Given the description of an element on the screen output the (x, y) to click on. 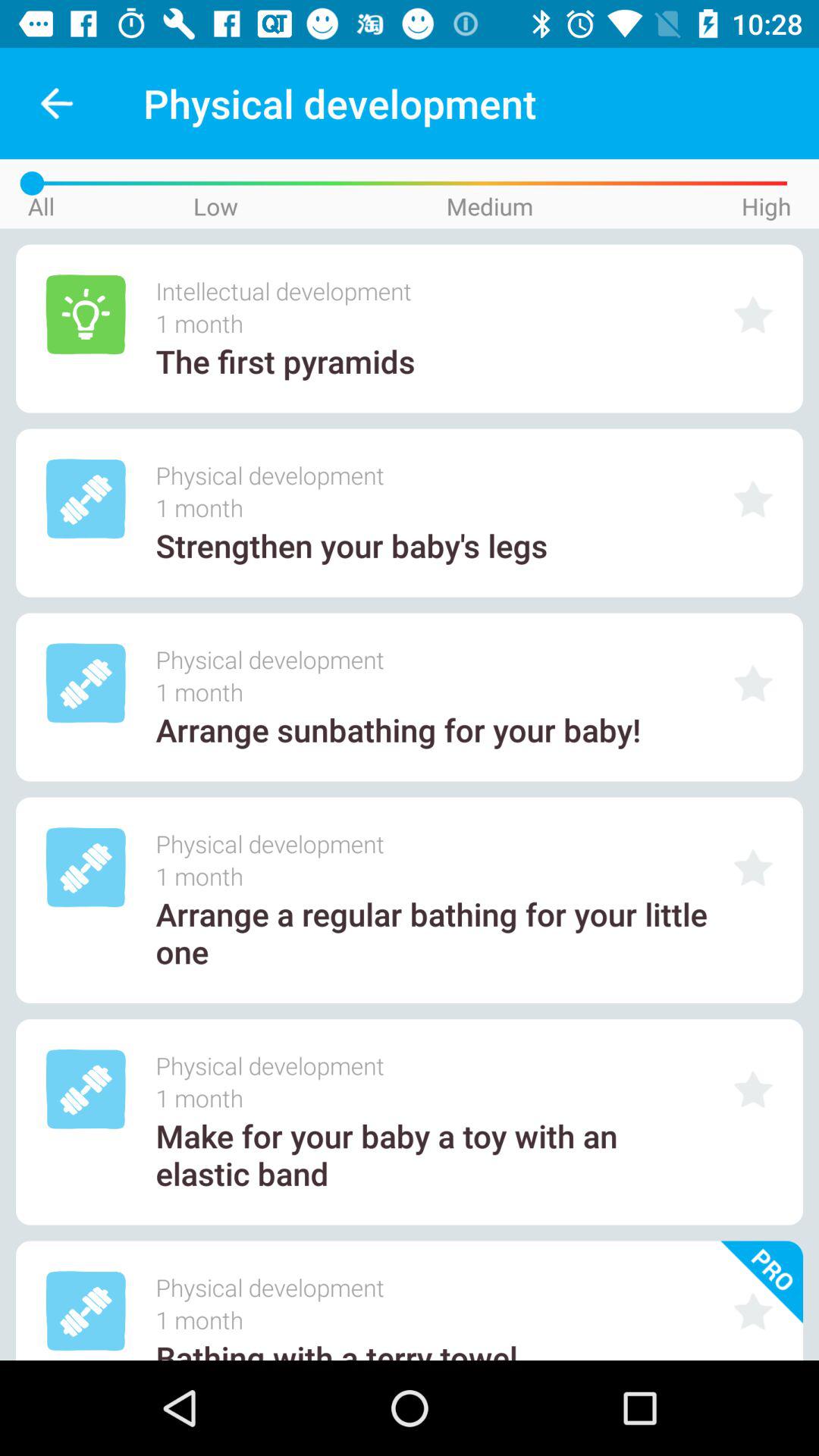
go to like (753, 683)
